Given the description of an element on the screen output the (x, y) to click on. 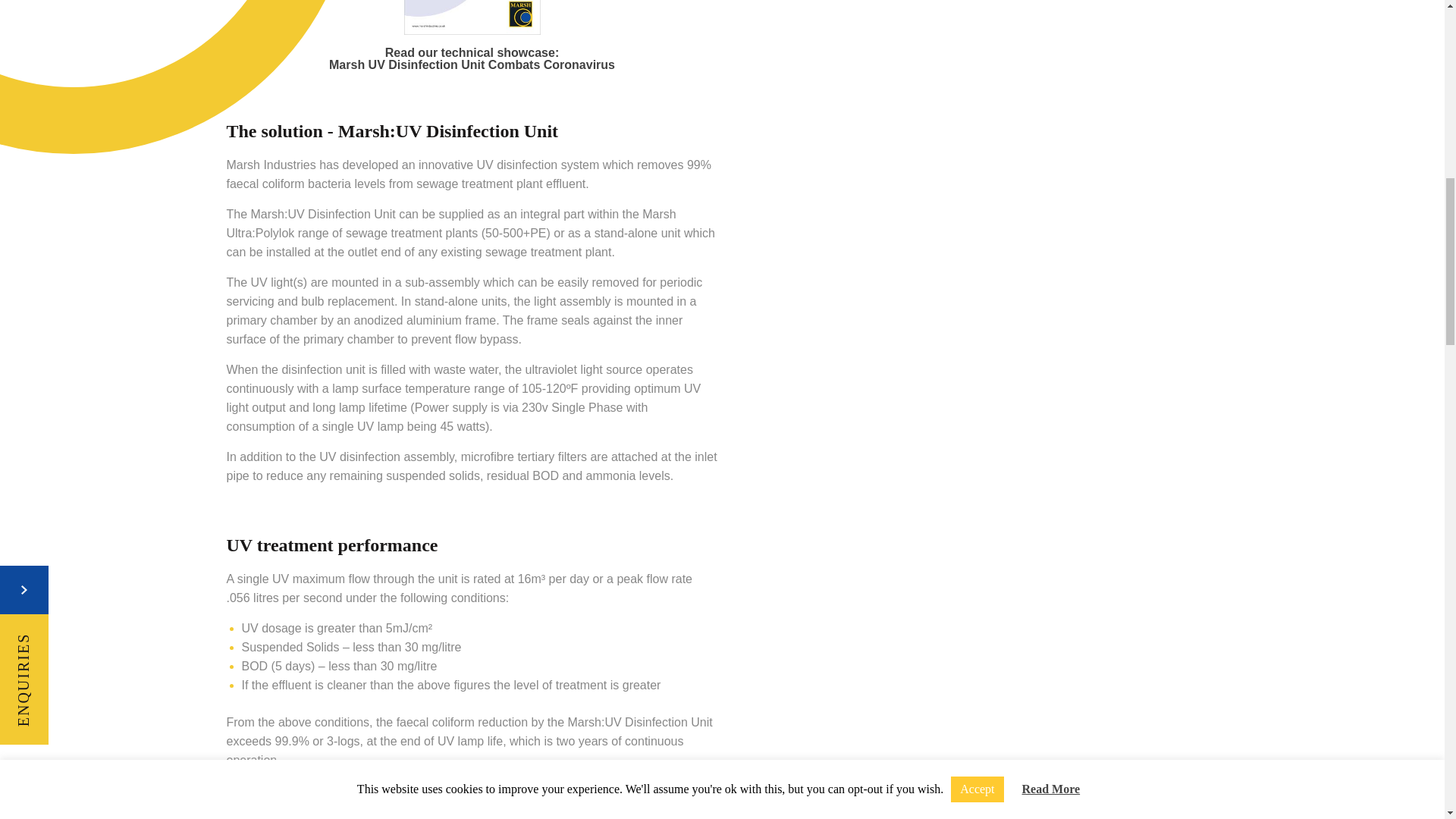
Marsh UV Disinfection Unit technical showcase (471, 17)
